Given the description of an element on the screen output the (x, y) to click on. 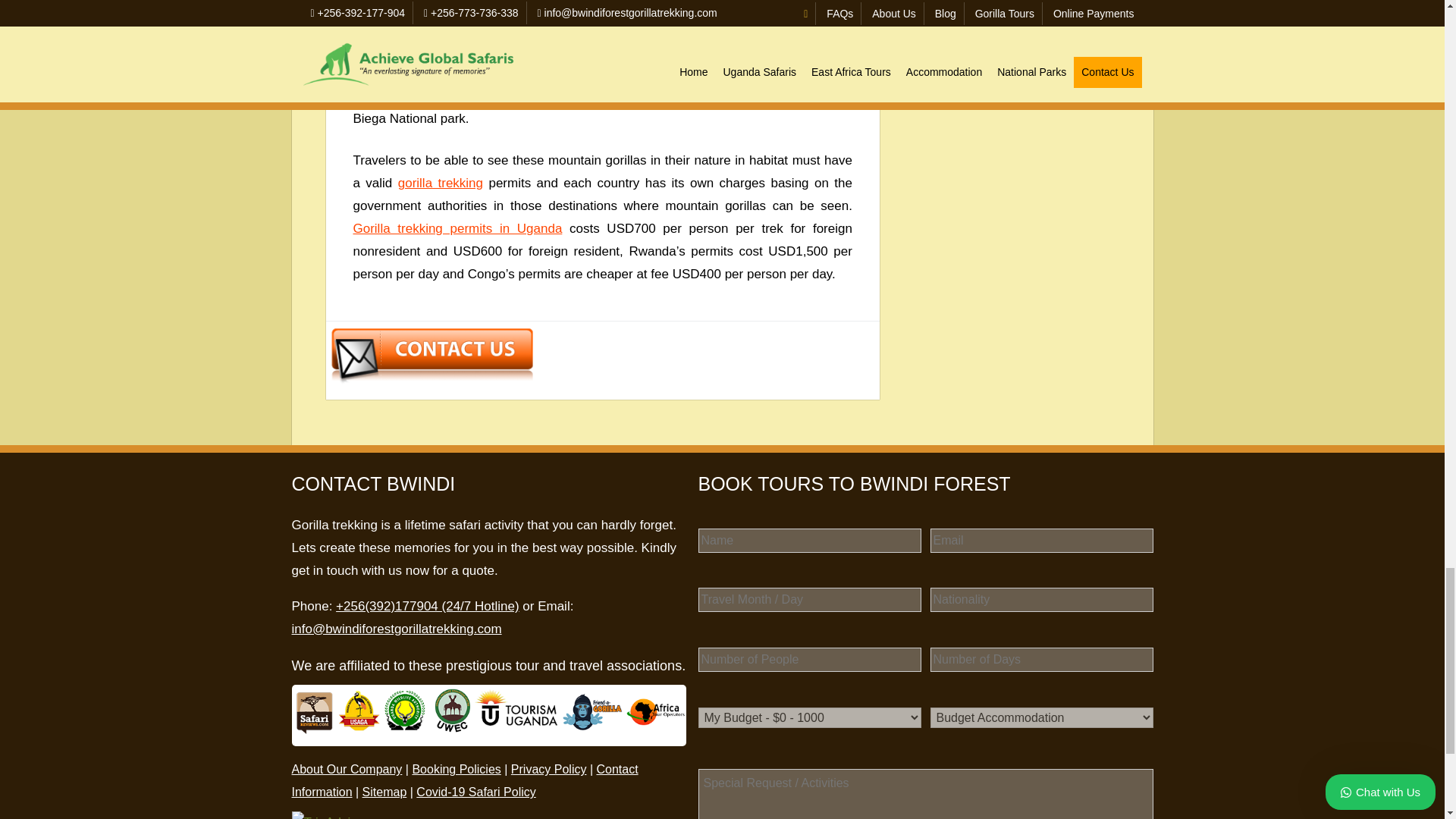
Gorilla trekking permits in Uganda (457, 228)
gorilla trekking (440, 183)
Sitemap (384, 791)
Covid-19 Safari Policy (475, 791)
Contact Information (464, 780)
Mgahinga Gorilla National Park (609, 73)
Privacy Policy (548, 768)
About Our Company (346, 768)
Booking Policies (456, 768)
